Given the description of an element on the screen output the (x, y) to click on. 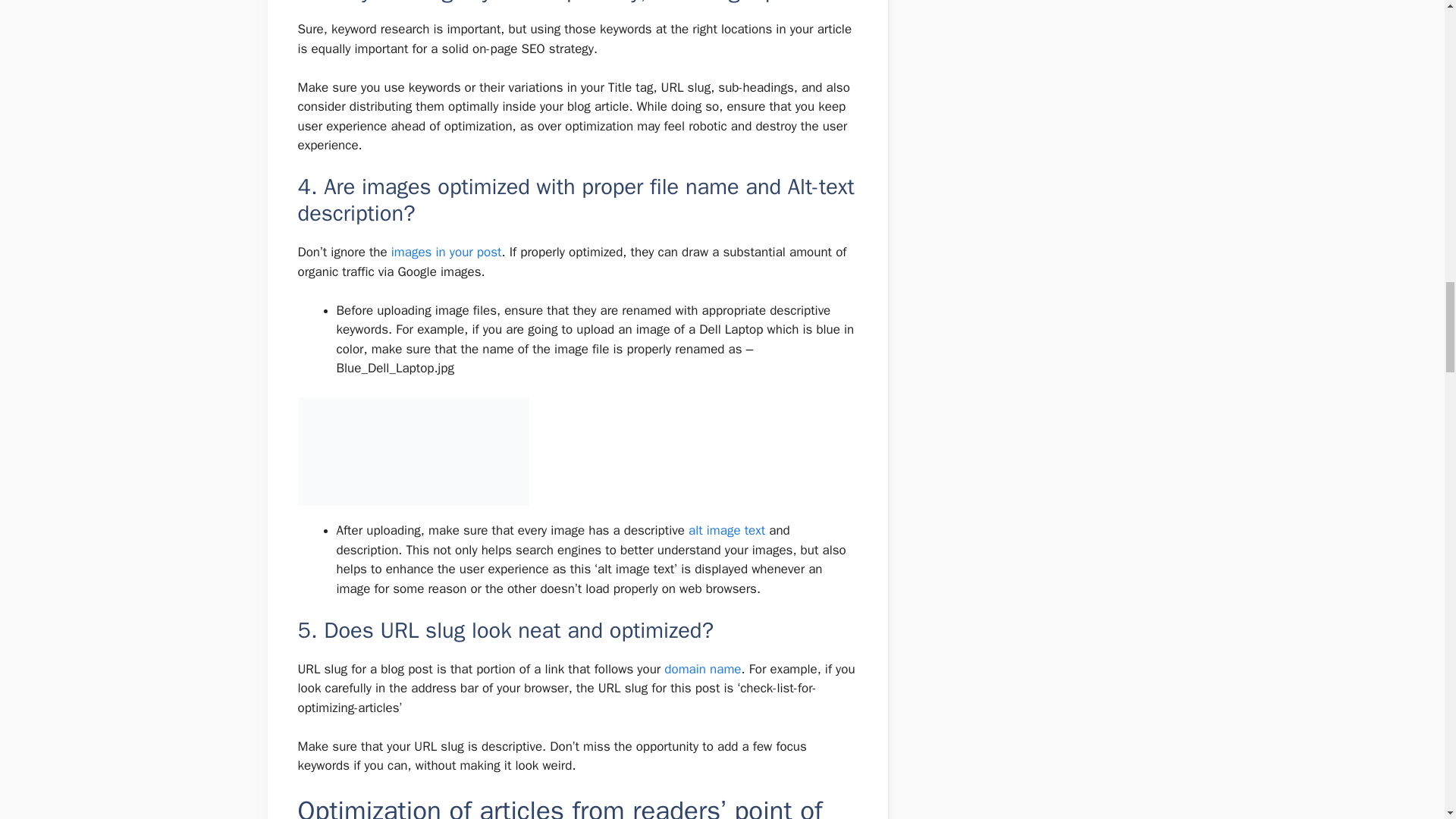
alt image text (726, 530)
images in your post (446, 252)
image optimization example (412, 451)
